Given the description of an element on the screen output the (x, y) to click on. 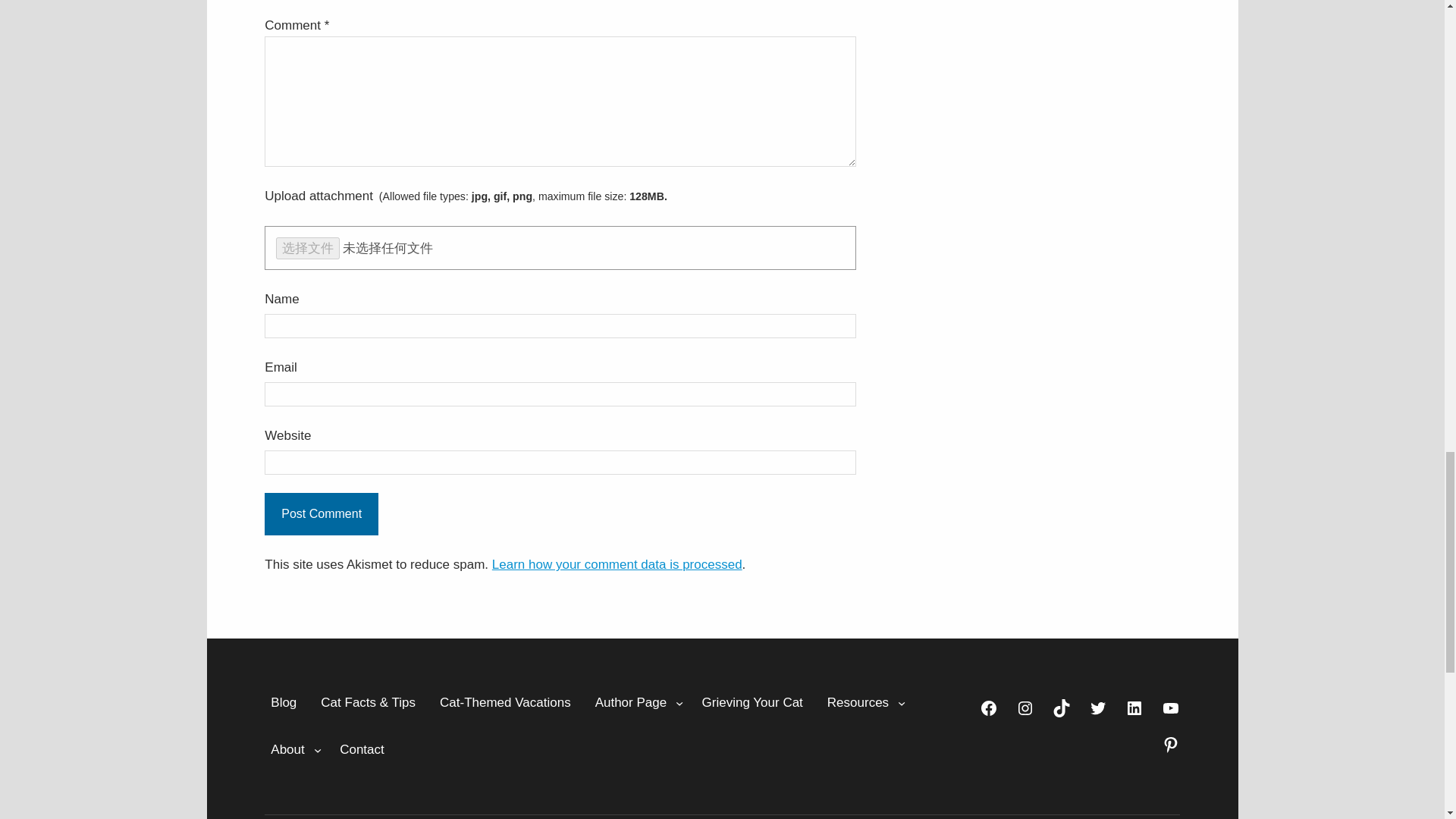
Cat Facts and Tips (368, 702)
Post Comment (321, 514)
Post Comment (321, 514)
Learn how your comment data is processed (617, 564)
